Given the description of an element on the screen output the (x, y) to click on. 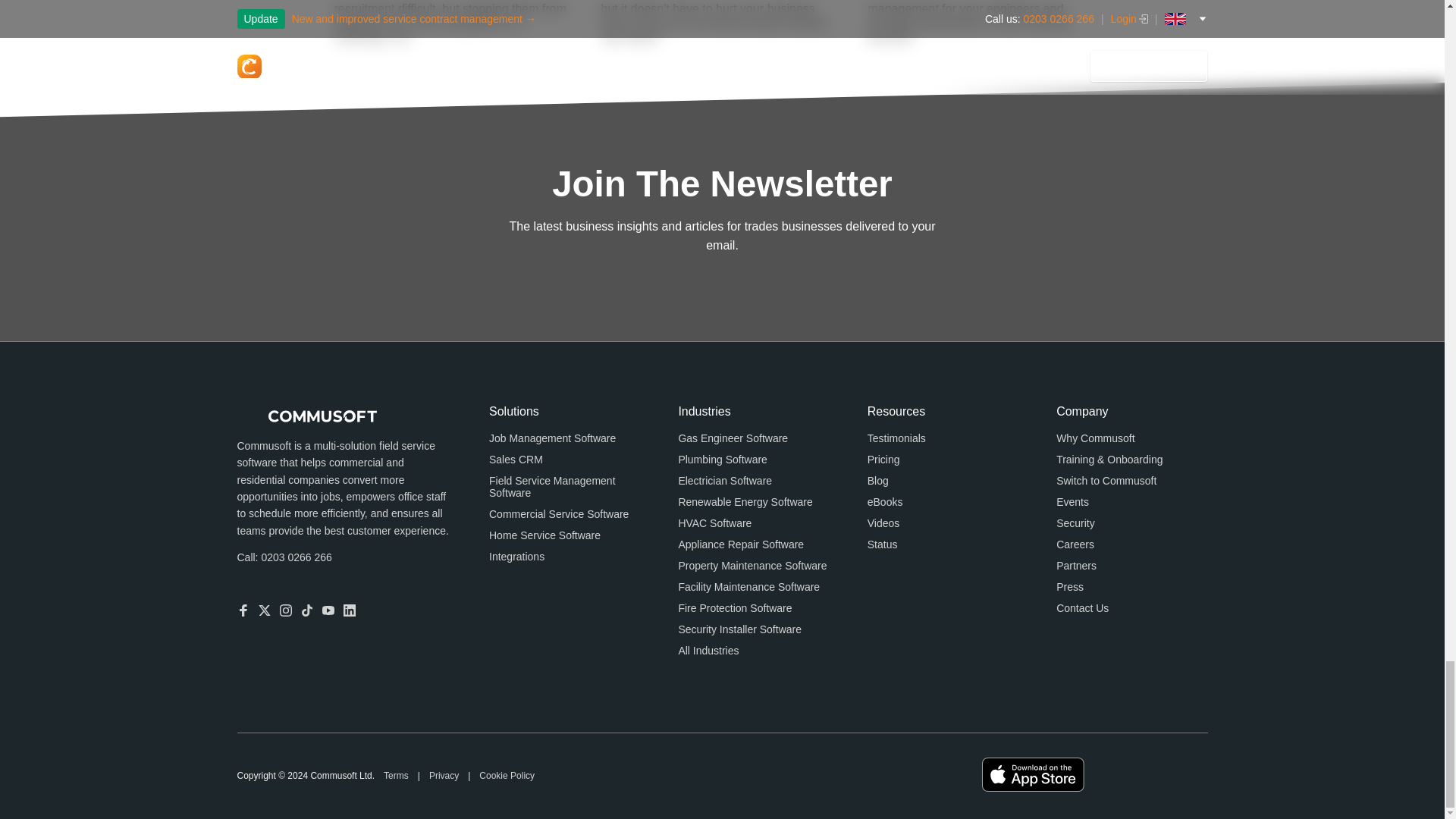
Download the Commusoft App on the App Store (1032, 774)
Commusoft (305, 416)
